Given the description of an element on the screen output the (x, y) to click on. 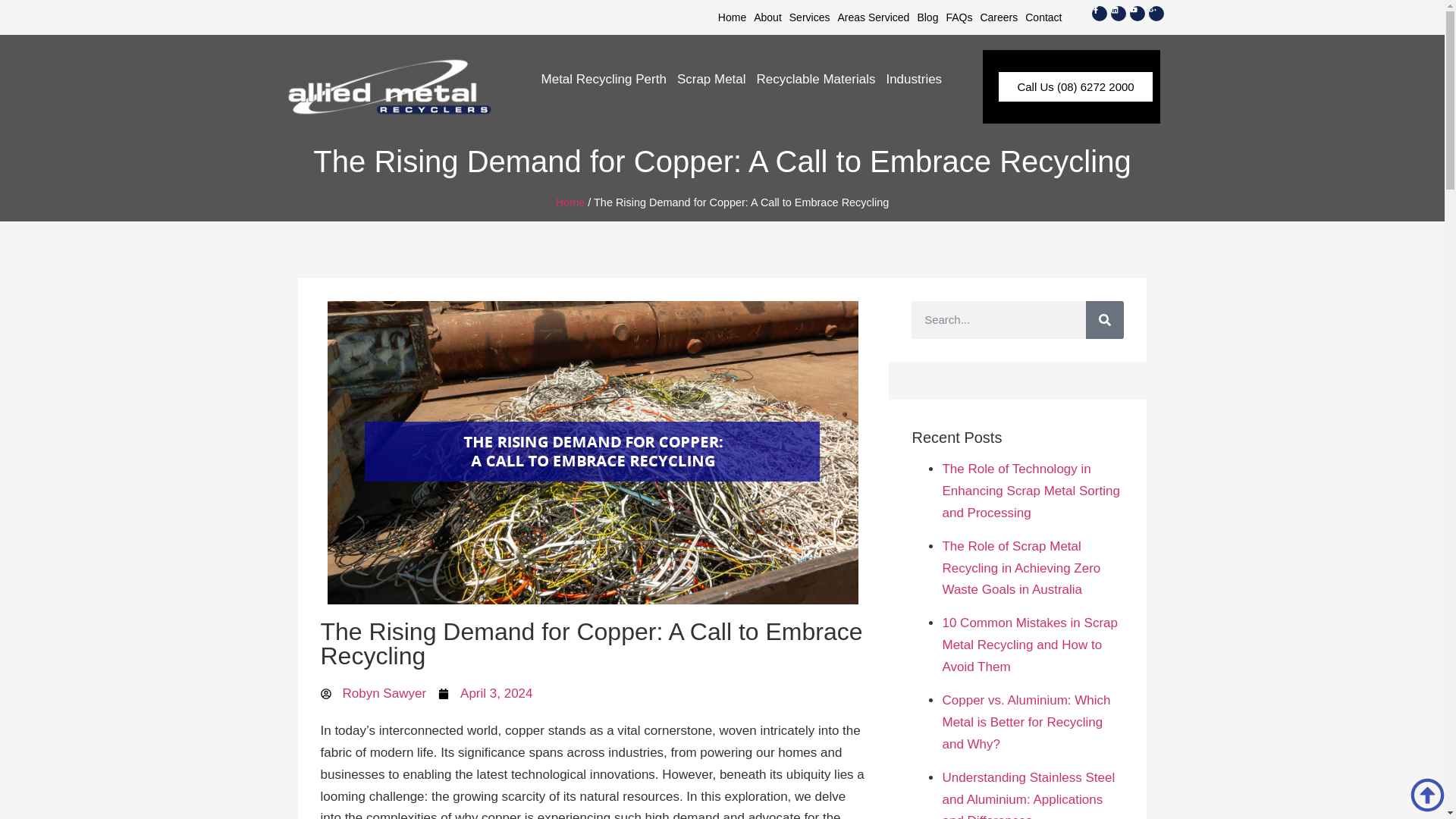
Scrap Metal (711, 79)
Services (810, 17)
Careers (998, 17)
Industries (913, 79)
Recyclable Materials (815, 79)
FAQs (958, 17)
Areas Serviced (872, 17)
Home (731, 17)
Metal Recycling Perth (603, 79)
About (767, 17)
